Given the description of an element on the screen output the (x, y) to click on. 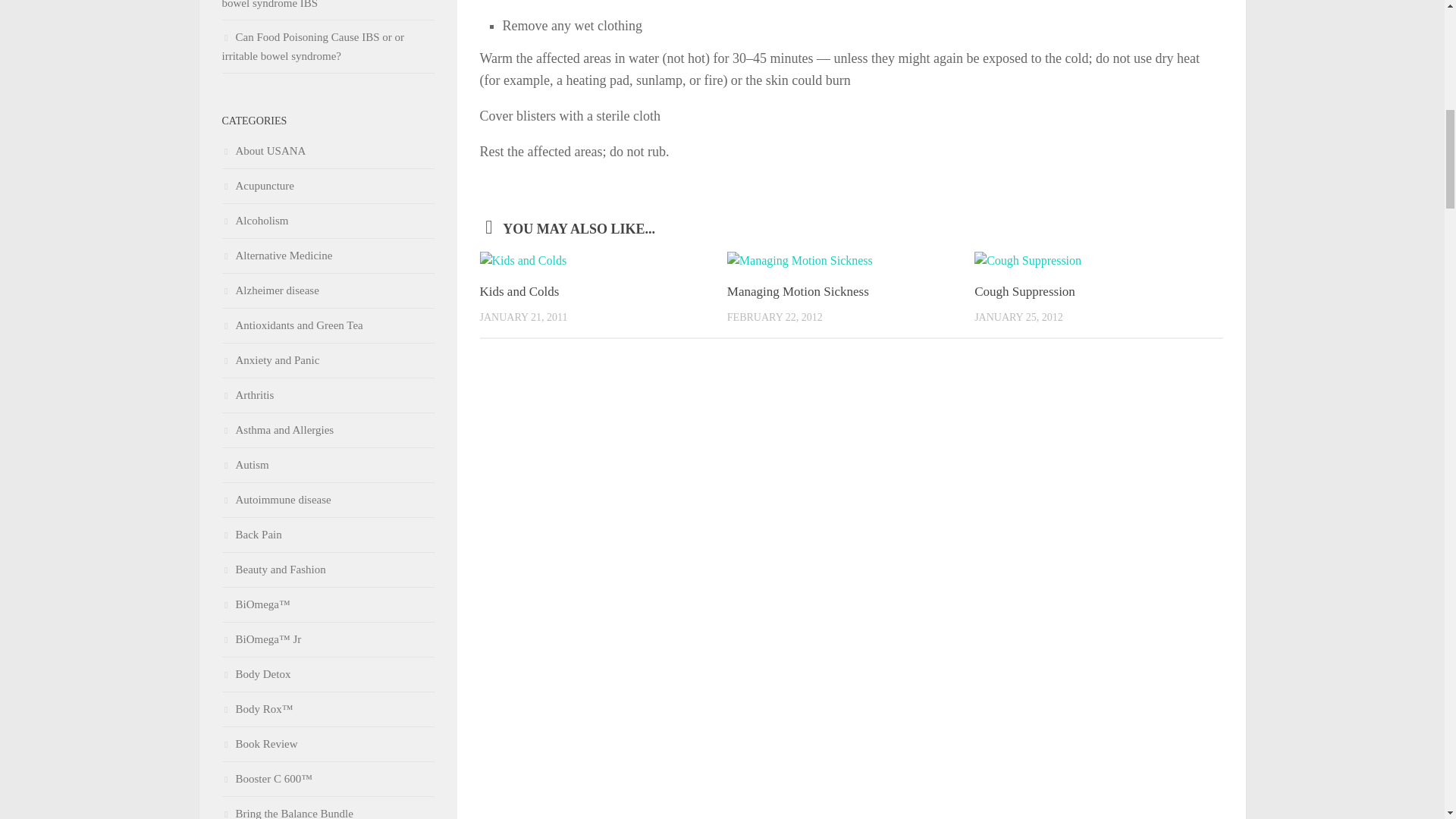
Permalink to Cough Suppression (1024, 291)
Cough Suppression (1024, 291)
Managing Motion Sickness (797, 291)
Kids and Colds (519, 291)
About USANA company (263, 150)
Permalink to Managing Motion Sickness (797, 291)
Permalink to Kids and Colds (519, 291)
